Given the description of an element on the screen output the (x, y) to click on. 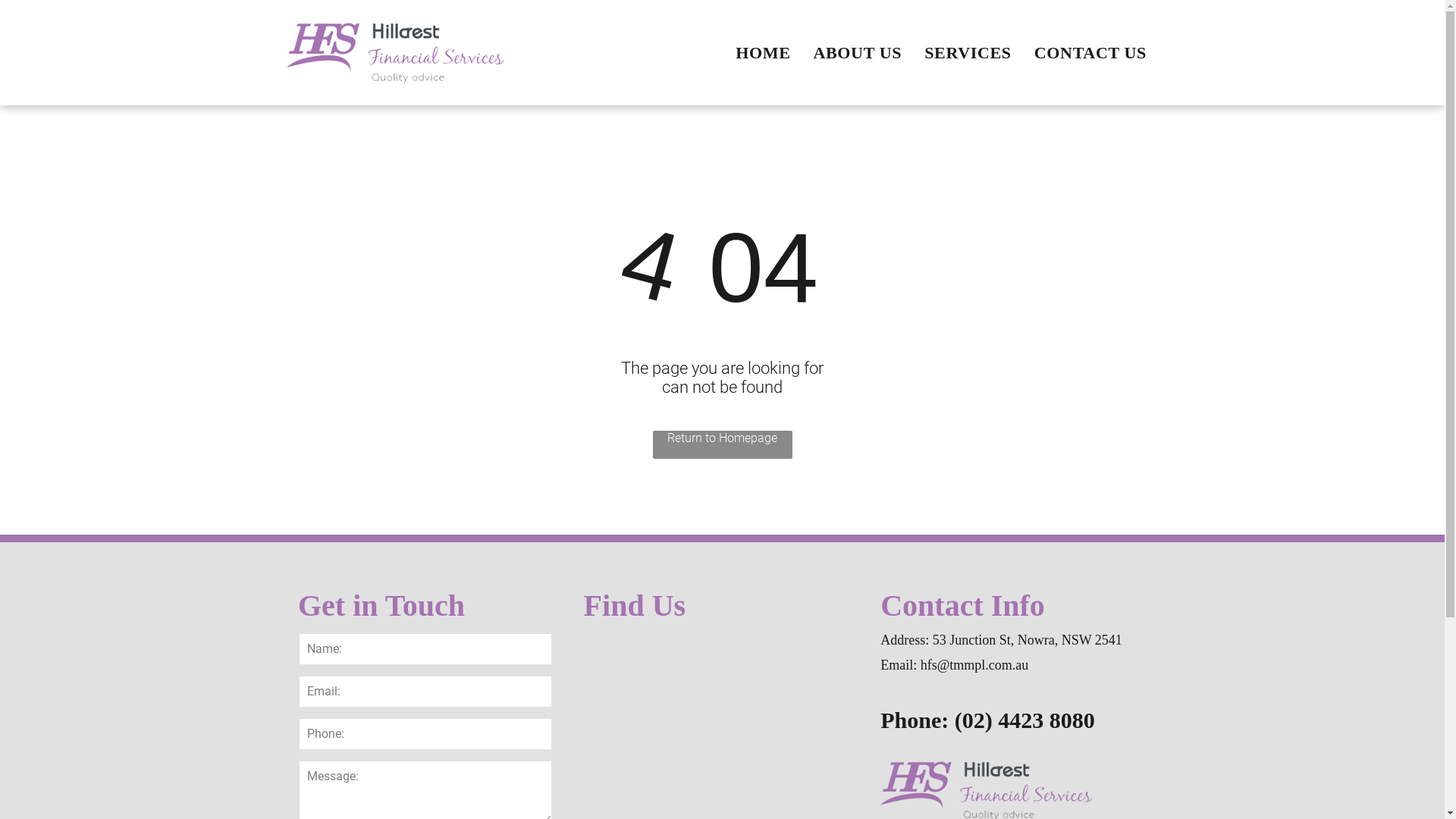
HOME Element type: text (762, 52)
53 Junction St, Nowra, NSW 2541 Element type: text (1027, 639)
ABOUT US Element type: text (857, 52)
(02) 4423 8080  Element type: text (1027, 719)
SERVICES Element type: text (967, 52)
Return to Homepage Element type: text (721, 444)
CONTACT US Element type: text (1089, 52)
